Given the description of an element on the screen output the (x, y) to click on. 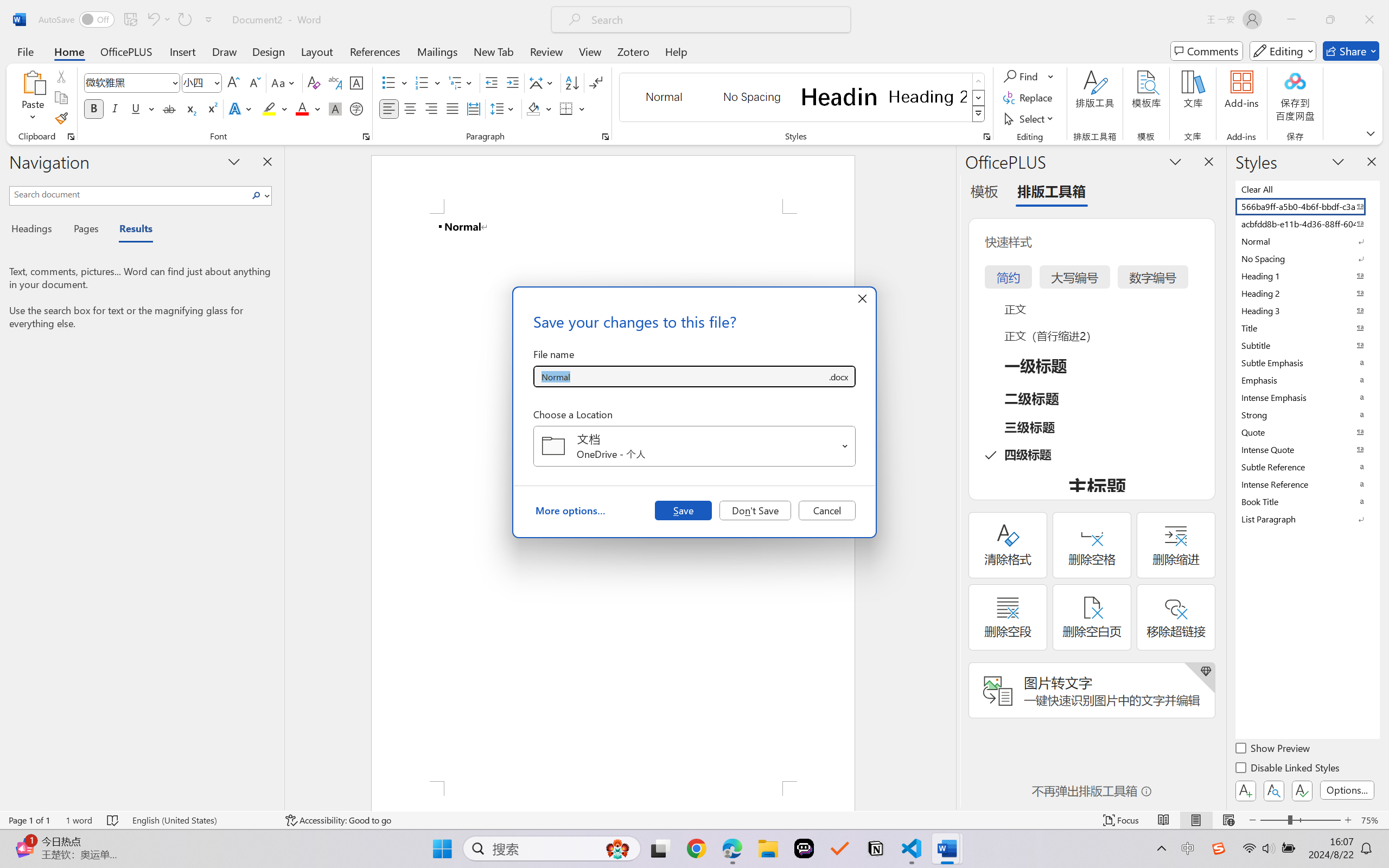
Zoom (1300, 819)
File Tab (24, 51)
Find (1029, 75)
Numbering (421, 82)
Center (409, 108)
Heading 2 (927, 96)
Shading RGB(0, 0, 0) (533, 108)
Headings (35, 229)
AutoSave (76, 19)
